Given the description of an element on the screen output the (x, y) to click on. 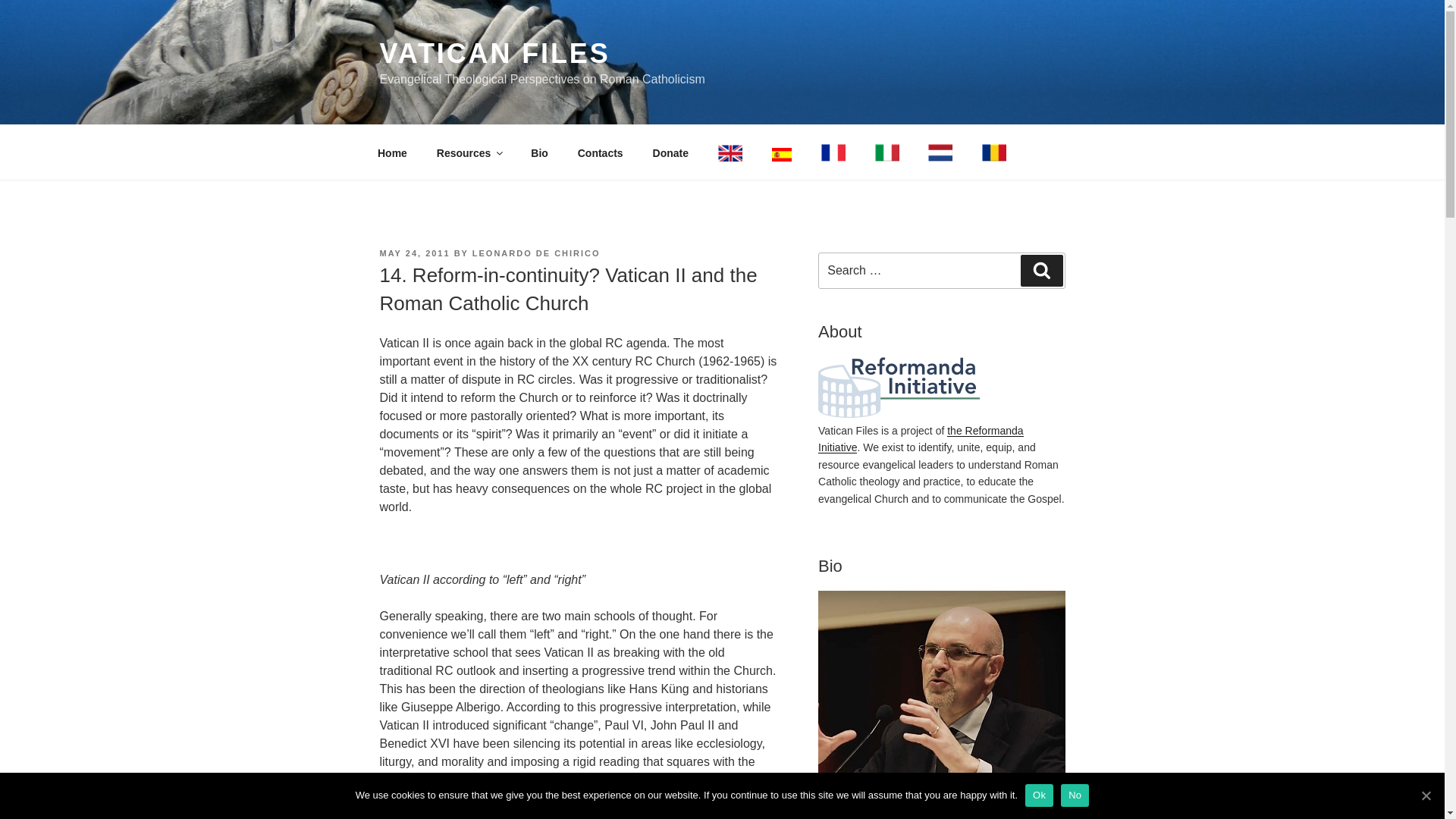
MAY 24, 2011 (413, 252)
Donate (670, 153)
Search (1041, 270)
Bio (540, 153)
Contacts (600, 153)
VATICAN FILES (494, 52)
the Reformanda Initiative (920, 439)
Home (392, 153)
Resources (469, 153)
LEONARDO DE CHIRICO (535, 252)
